Given the description of an element on the screen output the (x, y) to click on. 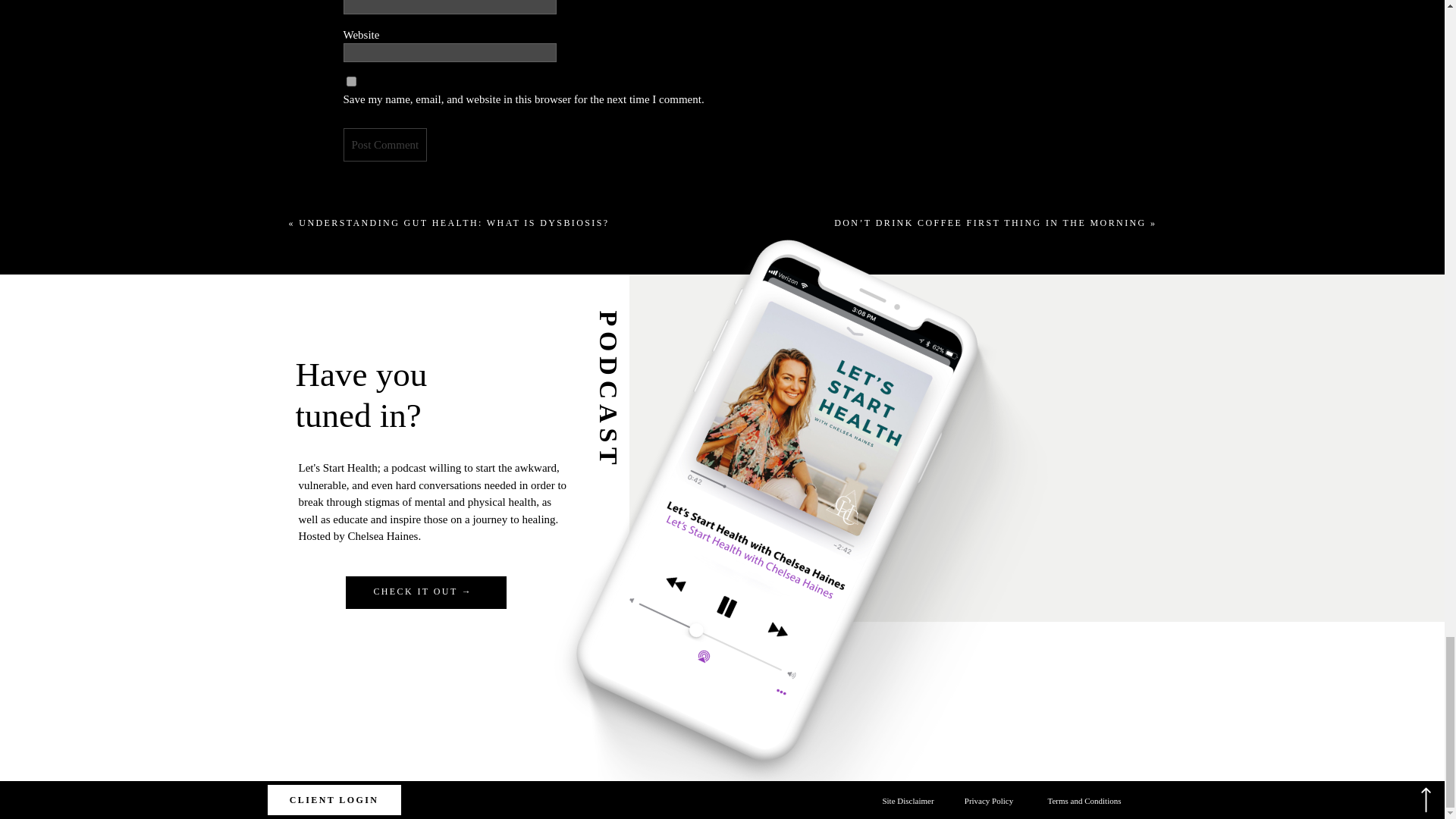
Post Comment (384, 144)
yes (350, 81)
